Given the description of an element on the screen output the (x, y) to click on. 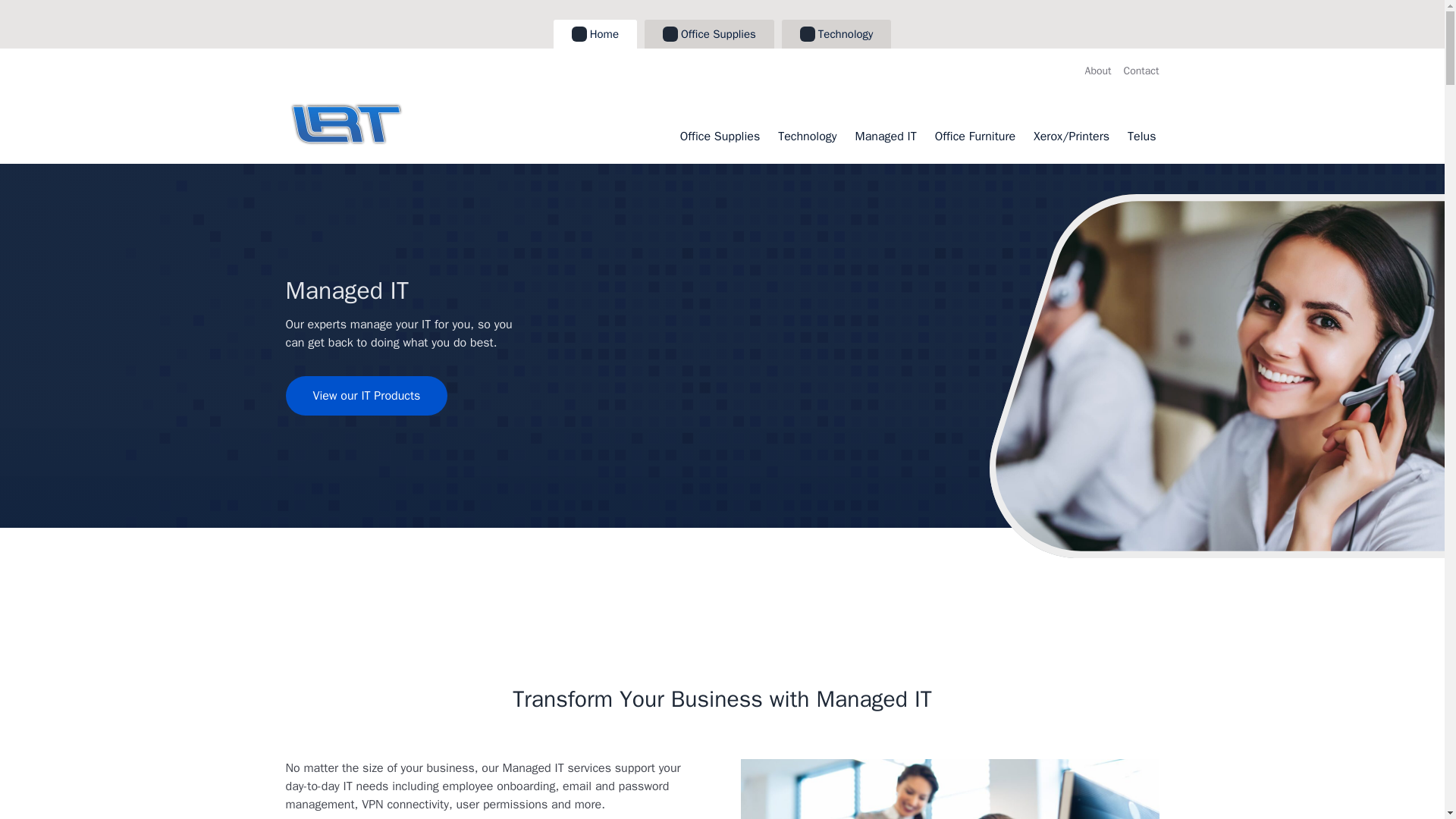
View our IT Products (365, 395)
Contact (1141, 70)
Technology (836, 33)
Home (595, 33)
Technology (807, 136)
Telus (1141, 136)
Managed IT (885, 136)
About (1098, 70)
Office Supplies (708, 33)
Office Furniture (974, 136)
